Given the description of an element on the screen output the (x, y) to click on. 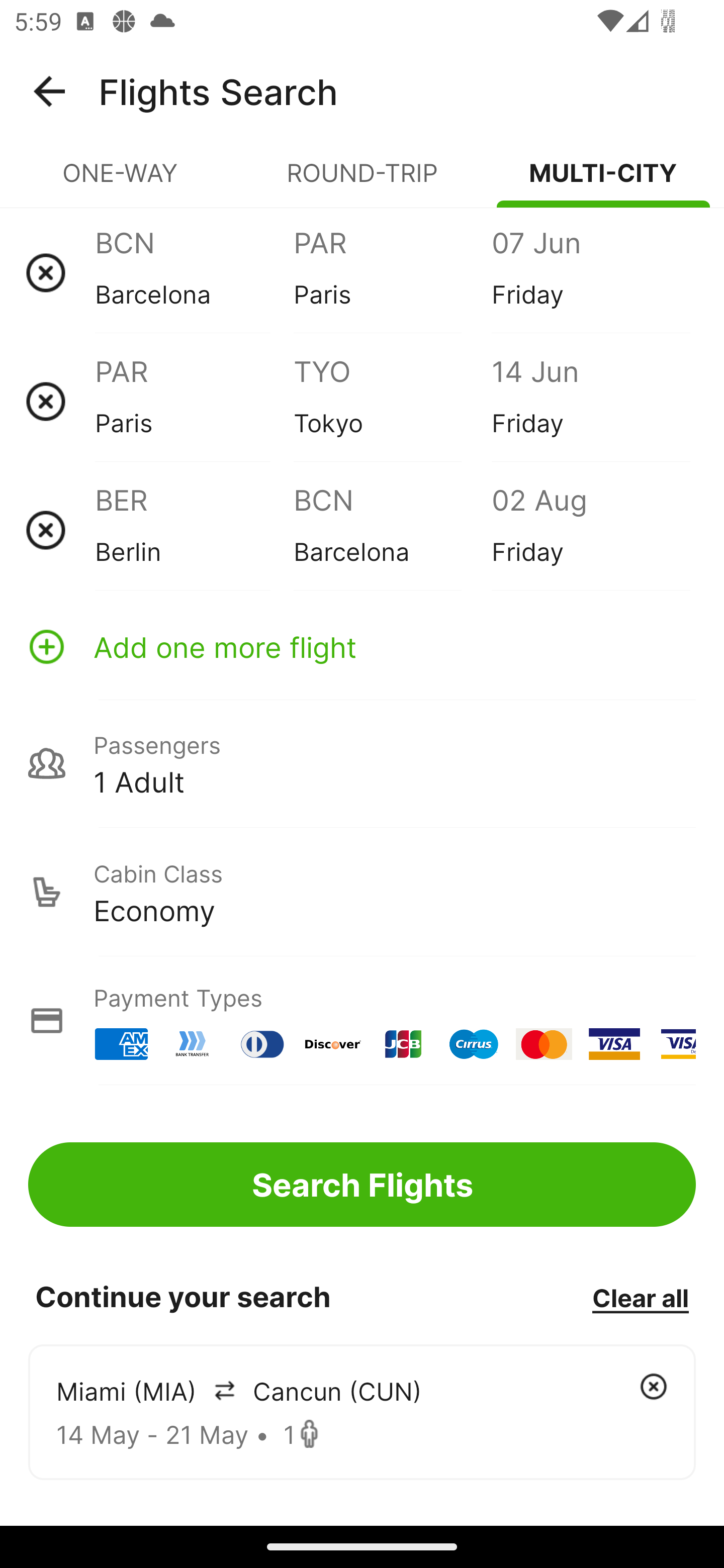
ONE-WAY (120, 180)
ROUND-TRIP (361, 180)
MULTI-CITY (603, 180)
BCN Barcelona (193, 272)
PAR Paris (392, 272)
07 Jun Friday (590, 272)
PAR Paris (193, 401)
TYO Tokyo (392, 401)
14 Jun Friday (590, 401)
BER Berlin (193, 529)
BCN Barcelona (392, 529)
02 Aug Friday (590, 529)
Add one more flight (362, 646)
Passengers 1 Adult (362, 762)
Cabin Class Economy (362, 891)
Payment Types (362, 1020)
Search Flights (361, 1184)
Clear all (640, 1297)
